Given the description of an element on the screen output the (x, y) to click on. 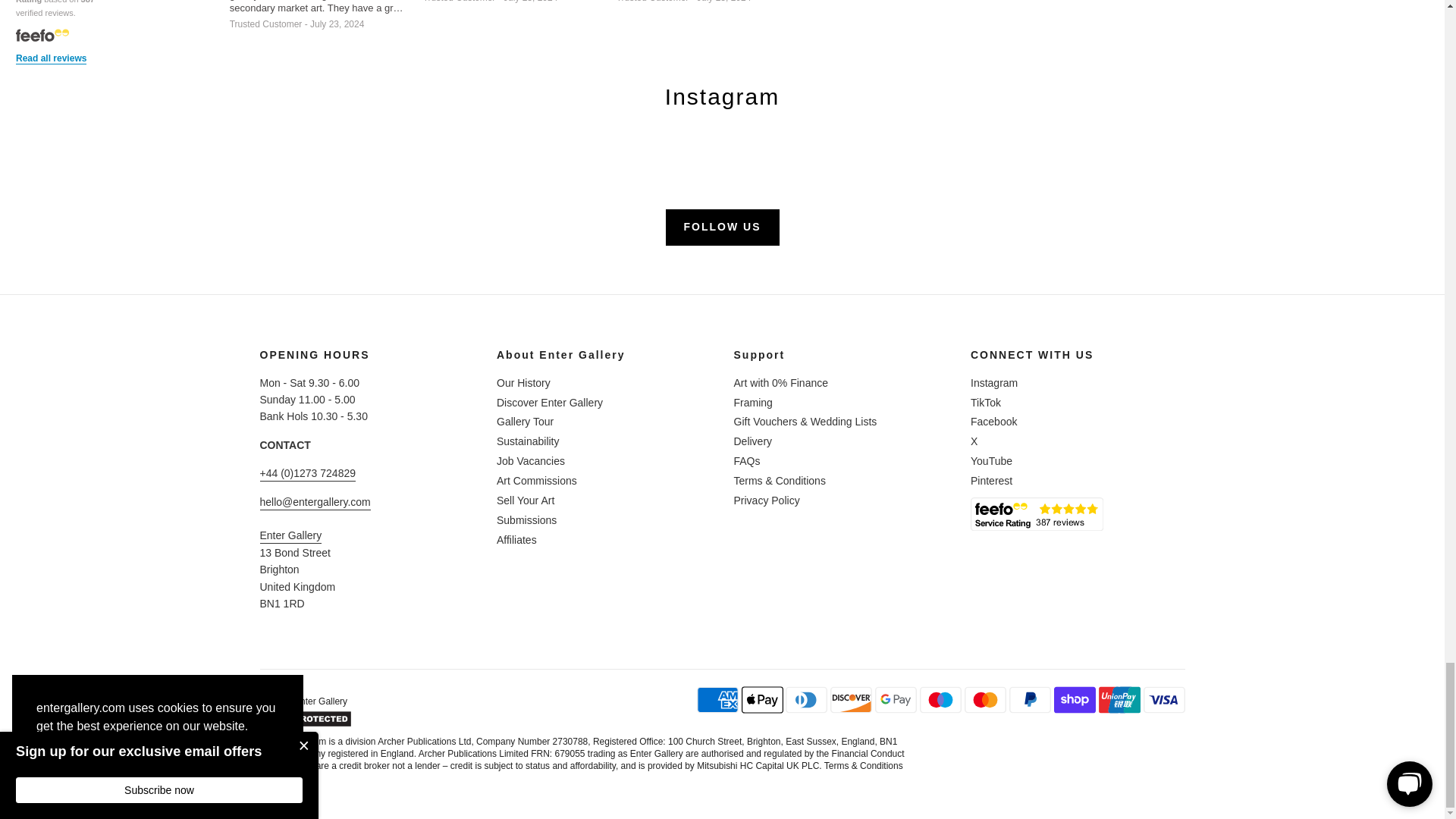
Google Pay (896, 699)
Mastercard (984, 699)
Apple Pay (762, 699)
Visa (1163, 699)
PayPal (1030, 699)
Shop Pay (1075, 699)
Maestro (940, 699)
Discover (850, 699)
Union Pay (1119, 699)
Diners Club (806, 699)
American Express (717, 699)
